Given the description of an element on the screen output the (x, y) to click on. 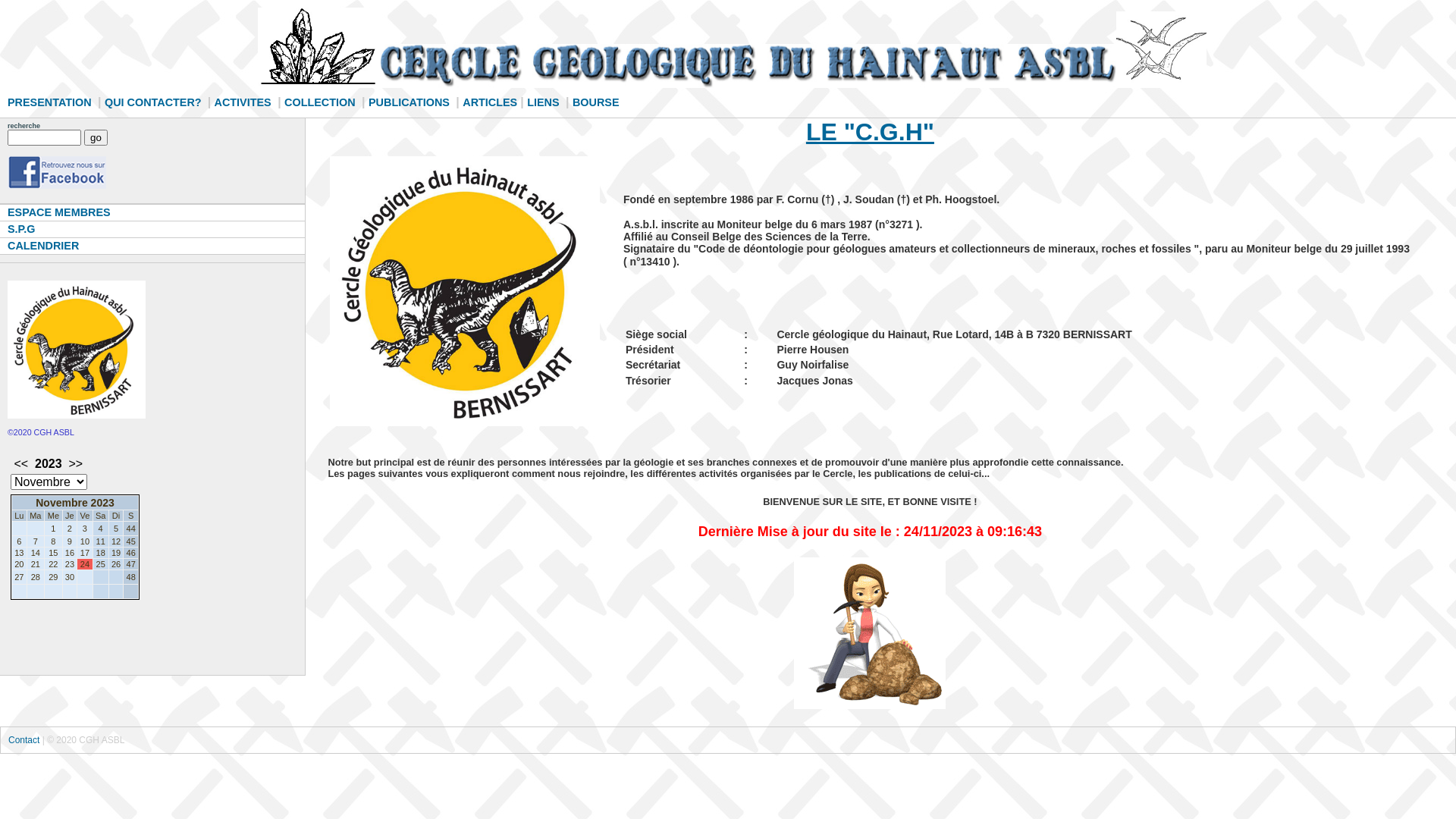
go Element type: text (95, 137)
ACTIVITES Element type: text (244, 102)
CALENDRIER Element type: text (152, 245)
LIENS Element type: text (544, 102)
PUBLICATIONS Element type: text (410, 102)
Contact Element type: text (25, 739)
ARTICLES Element type: text (491, 102)
BOURSE Element type: text (597, 102)
PRESENTATION Element type: text (50, 102)
COLLECTION Element type: text (321, 102)
QUI CONTACTER? Element type: text (155, 102)
S.P.G Element type: text (152, 228)
ESPACE MEMBRES Element type: text (152, 211)
